Given the description of an element on the screen output the (x, y) to click on. 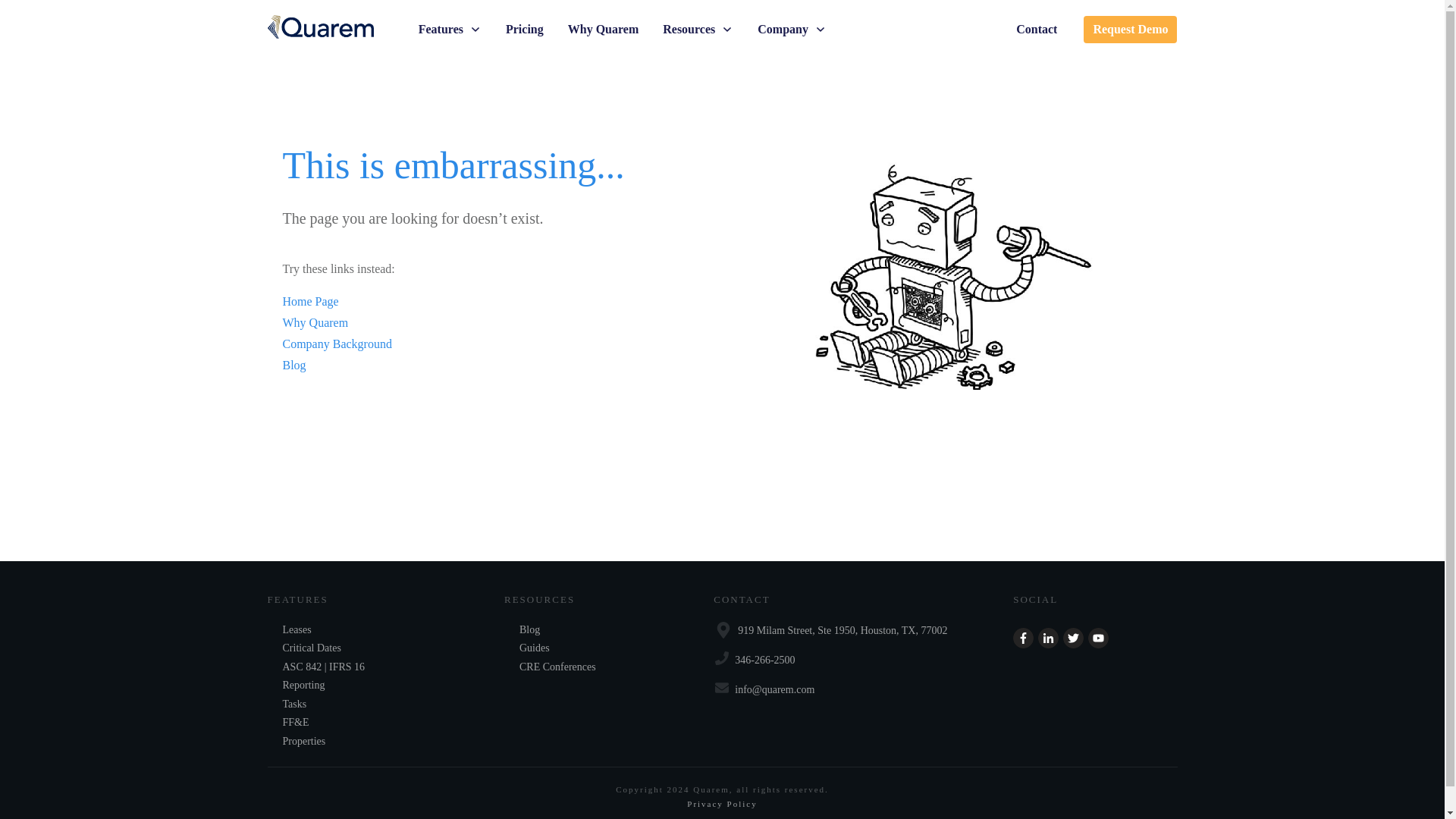
Contact (1036, 29)
Resources (697, 29)
Why Quarem (603, 29)
404-robot (952, 280)
Company (792, 29)
Request Demo (1130, 29)
Pricing (524, 29)
Features (450, 29)
